Given the description of an element on the screen output the (x, y) to click on. 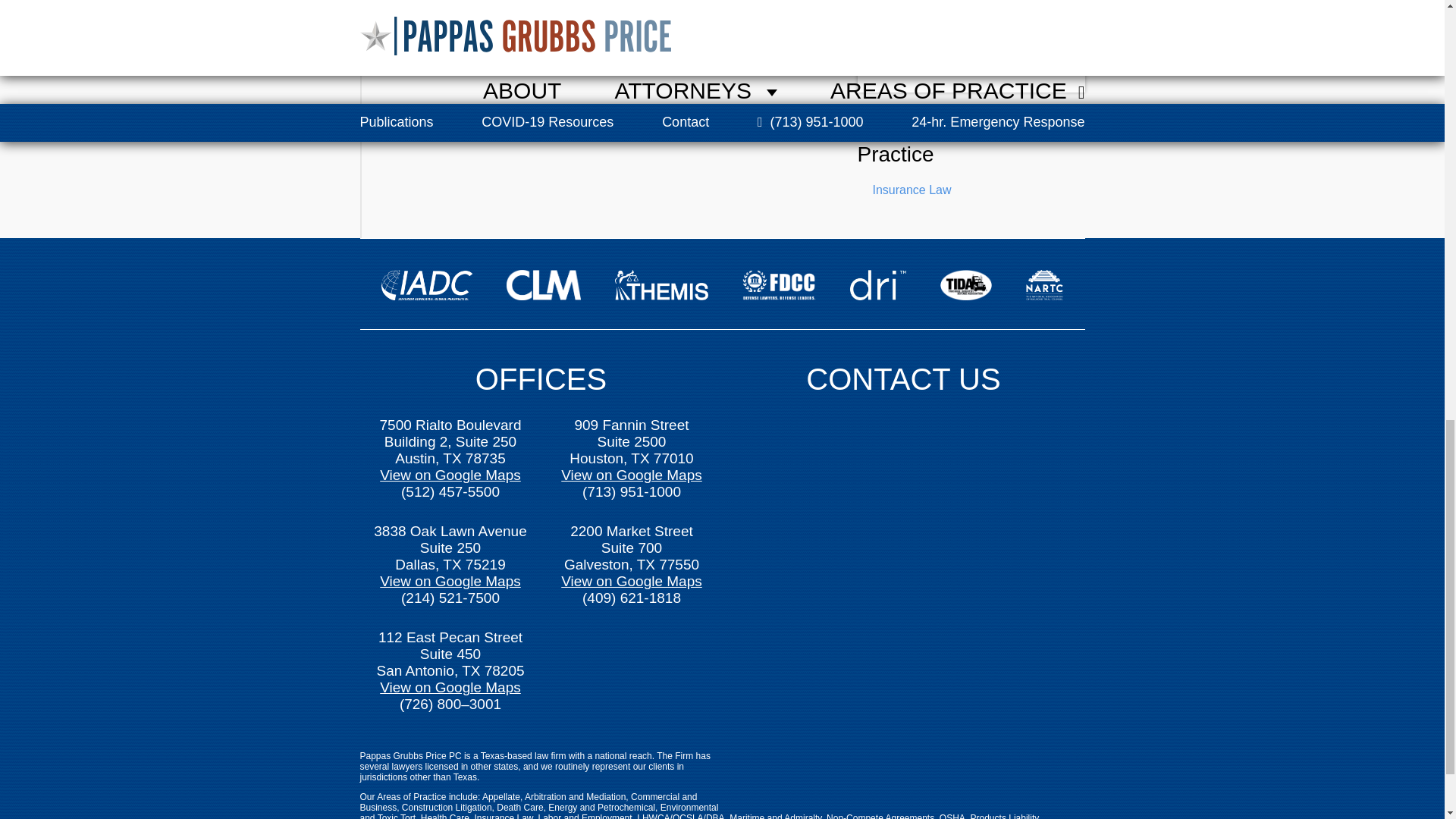
Form 0 (903, 584)
